Given the description of an element on the screen output the (x, y) to click on. 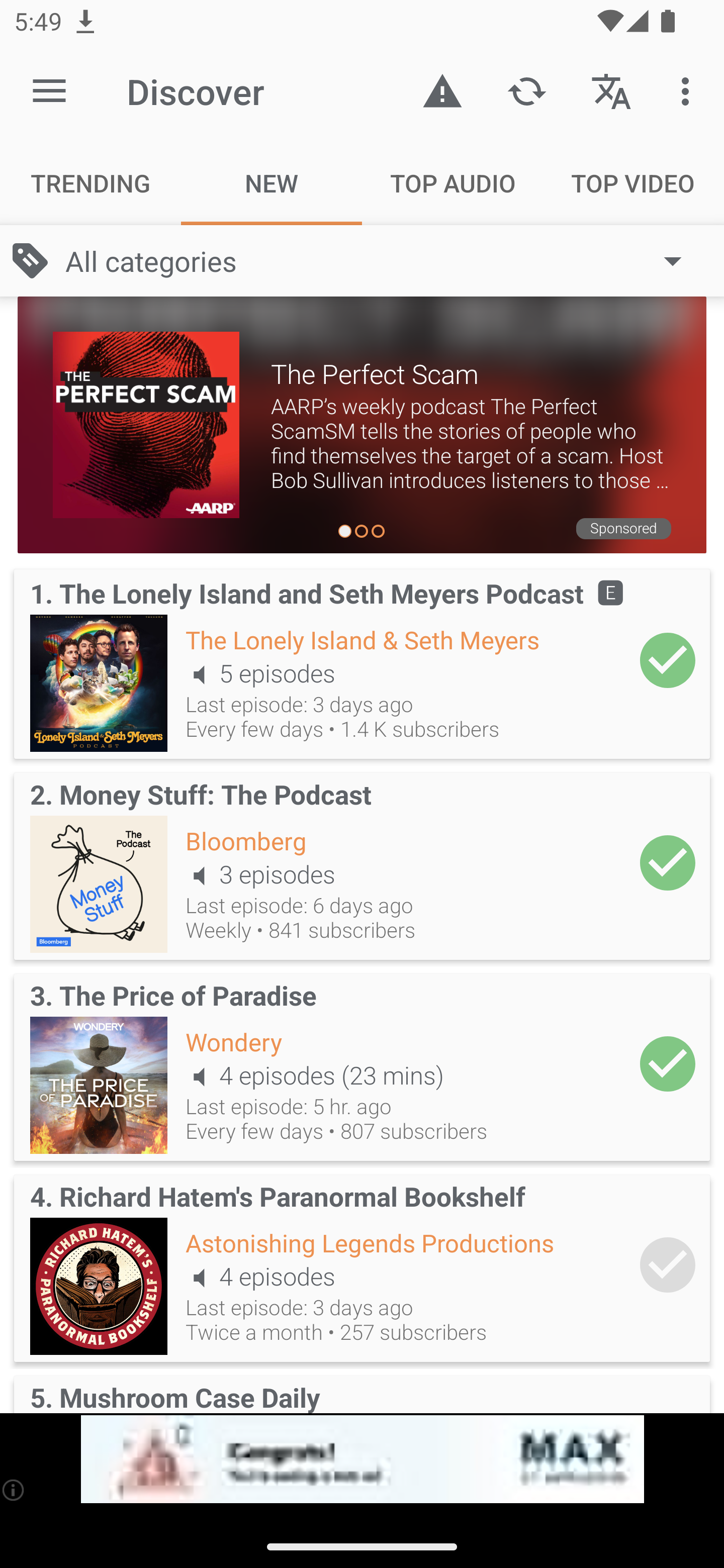
Open navigation sidebar (49, 91)
Report inappropriate content (442, 90)
Update top podcasts list (526, 90)
Podcast languages (611, 90)
More options (688, 90)
Trending TRENDING (90, 183)
Top Audio TOP AUDIO (452, 183)
Top Video TOP VIDEO (633, 183)
All categories (383, 260)
Add (667, 659)
Add (667, 862)
Add (667, 1063)
Add (667, 1265)
5. Mushroom Case Daily (362, 1390)
app-monetization (362, 1459)
(i) (14, 1489)
